Given the description of an element on the screen output the (x, y) to click on. 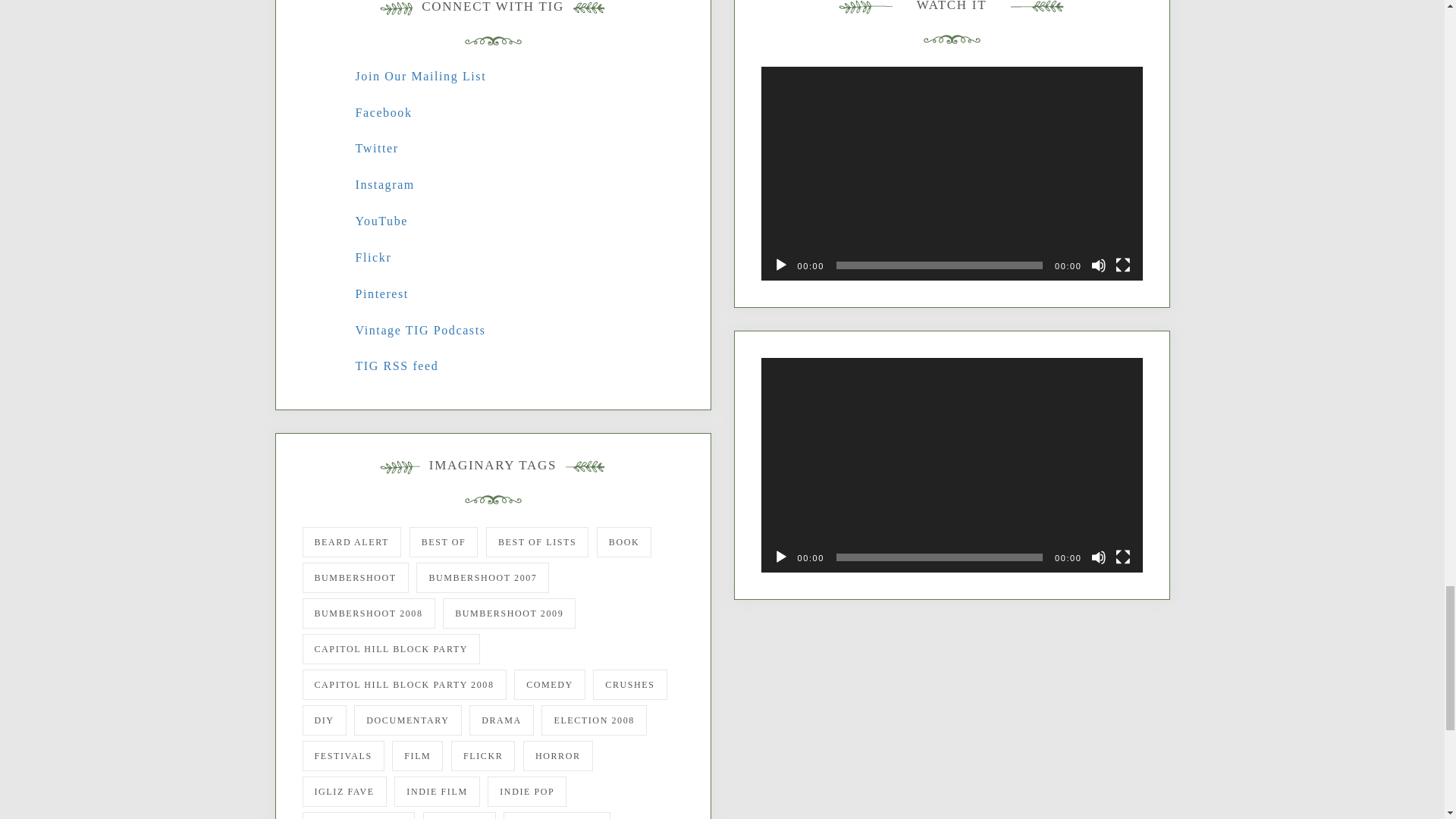
Mute (1097, 264)
Mute (1097, 557)
Fullscreen (1122, 557)
Play (781, 264)
Play (781, 557)
Fullscreen (1122, 264)
